Given the description of an element on the screen output the (x, y) to click on. 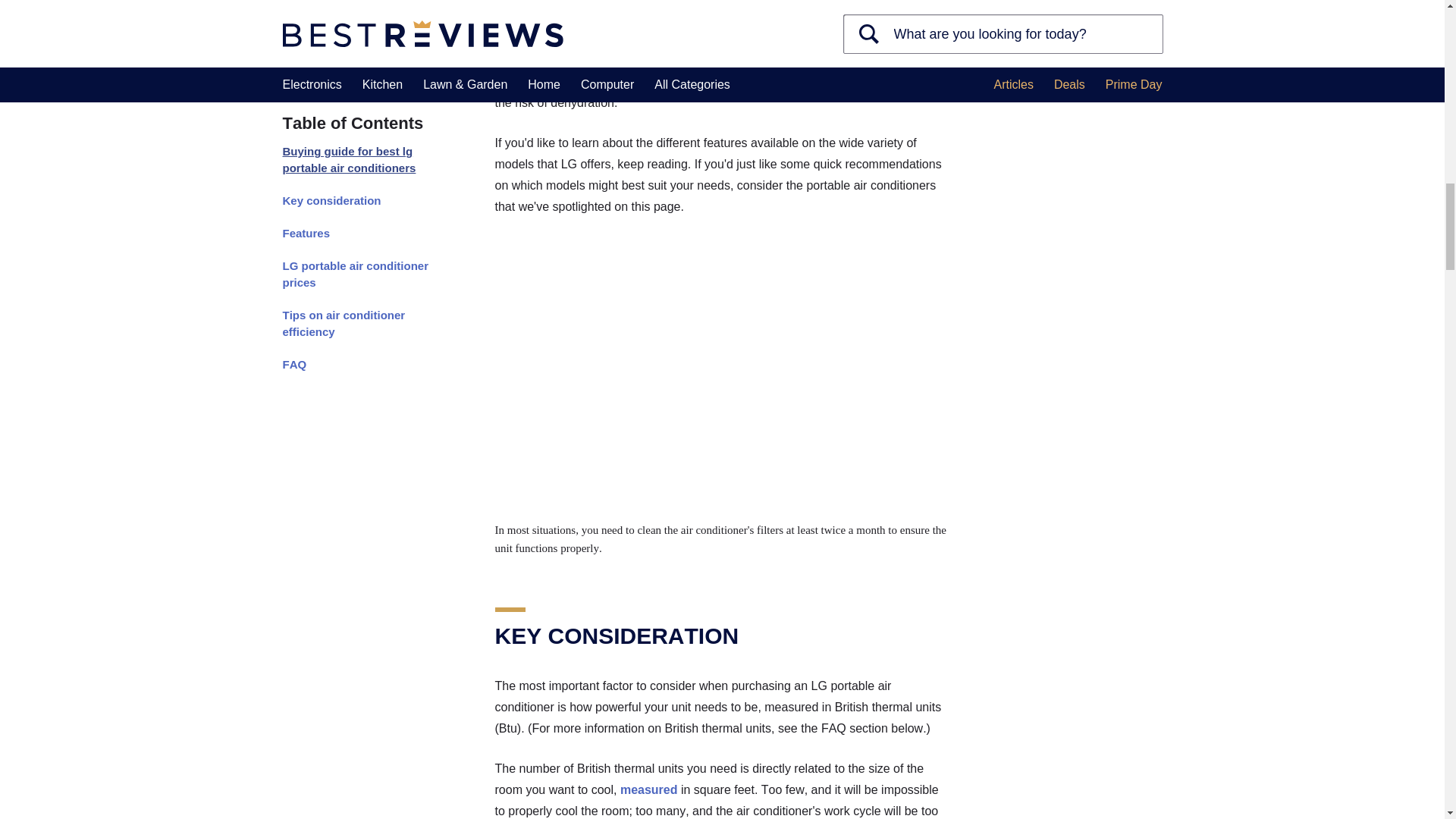
FAQ (361, 22)
measured (649, 789)
Tips on air conditioner efficiency (361, 1)
